Given the description of an element on the screen output the (x, y) to click on. 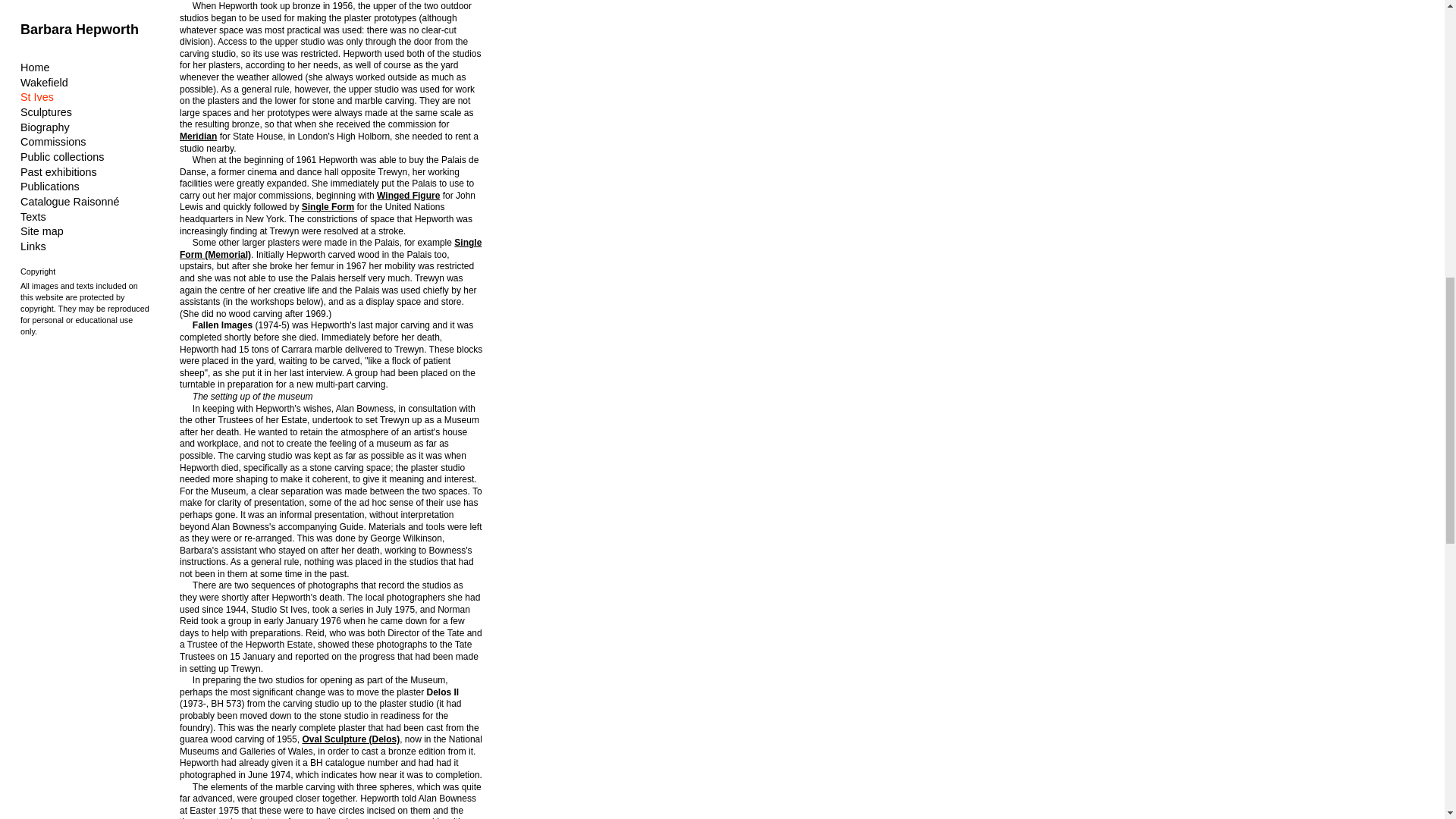
Winged Figure (408, 195)
Single Form (327, 206)
Meridian (197, 136)
